Given the description of an element on the screen output the (x, y) to click on. 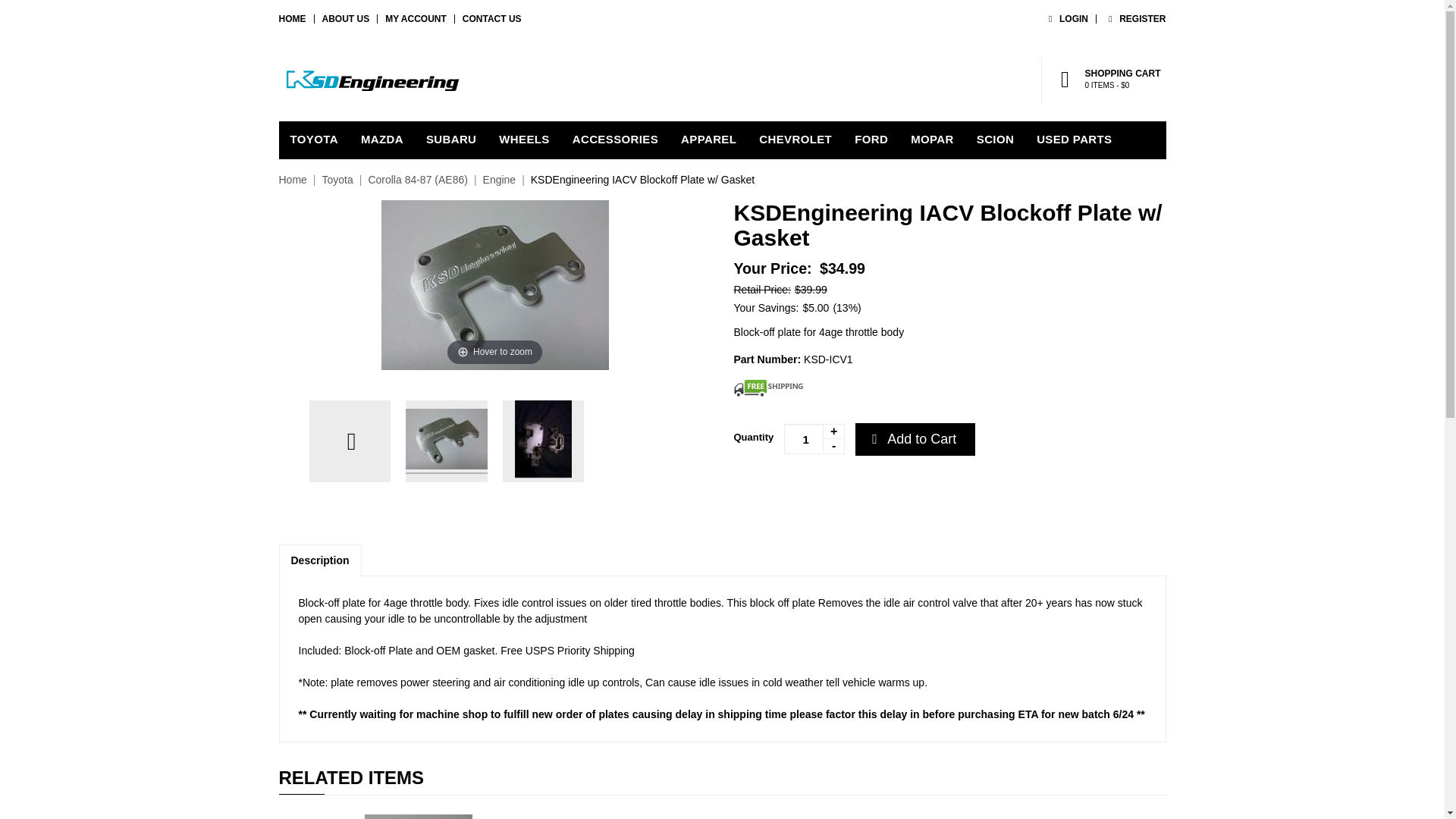
ACCESSORIES (614, 139)
Thumbnail (542, 441)
MY ACCOUNT (415, 18)
Toyota (336, 179)
HOME (292, 18)
WHEELS (1134, 18)
SCION (523, 139)
USED PARTS (995, 139)
